Given the description of an element on the screen output the (x, y) to click on. 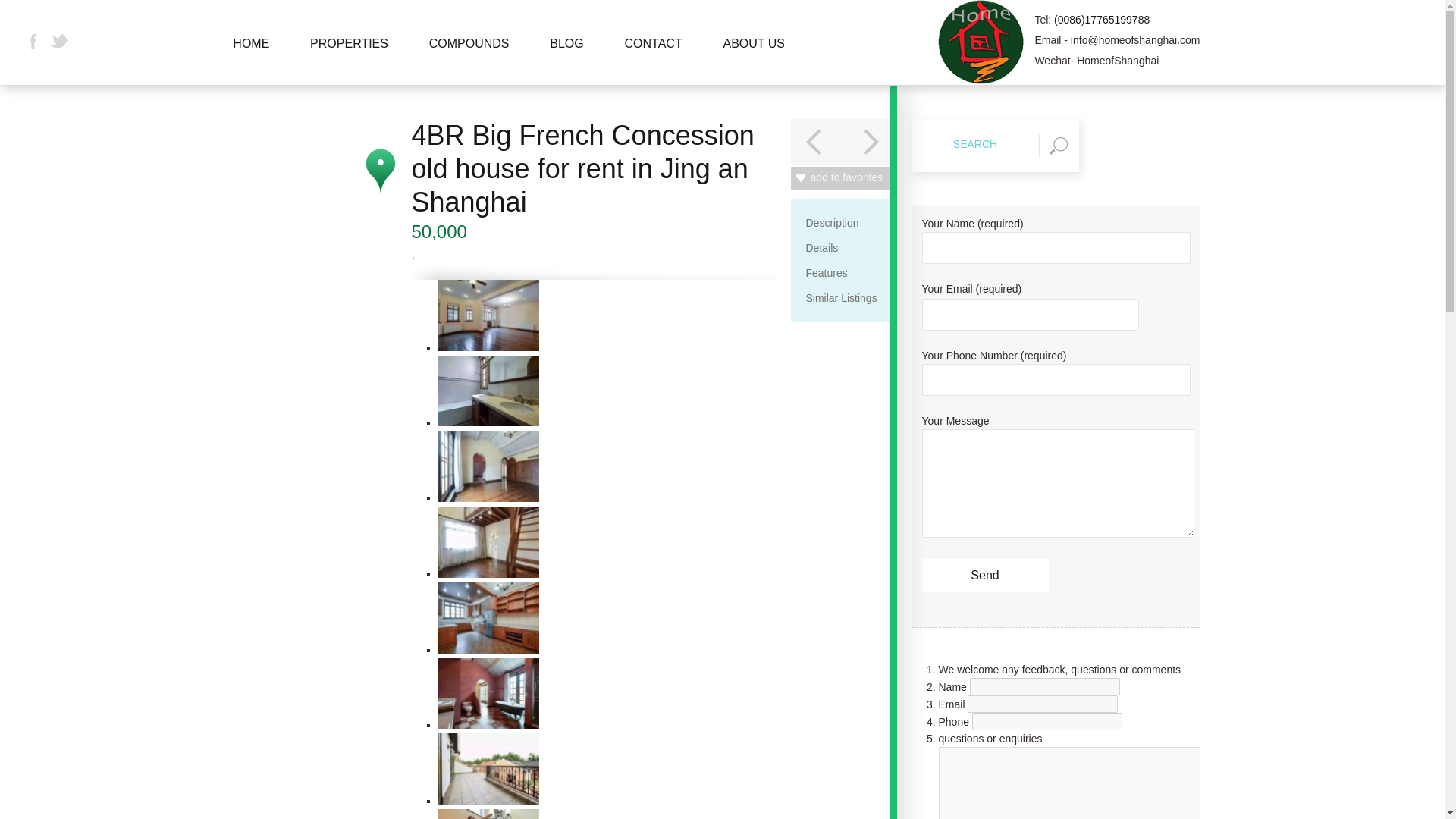
BLOG (566, 61)
CONTACT (653, 61)
HOME (250, 61)
Name (1044, 686)
PROPERTIES (349, 61)
COMPOUNDS (468, 61)
ABOUT US (753, 61)
Send (984, 575)
questions or enquiries (1069, 782)
Phone (1047, 721)
